Given the description of an element on the screen output the (x, y) to click on. 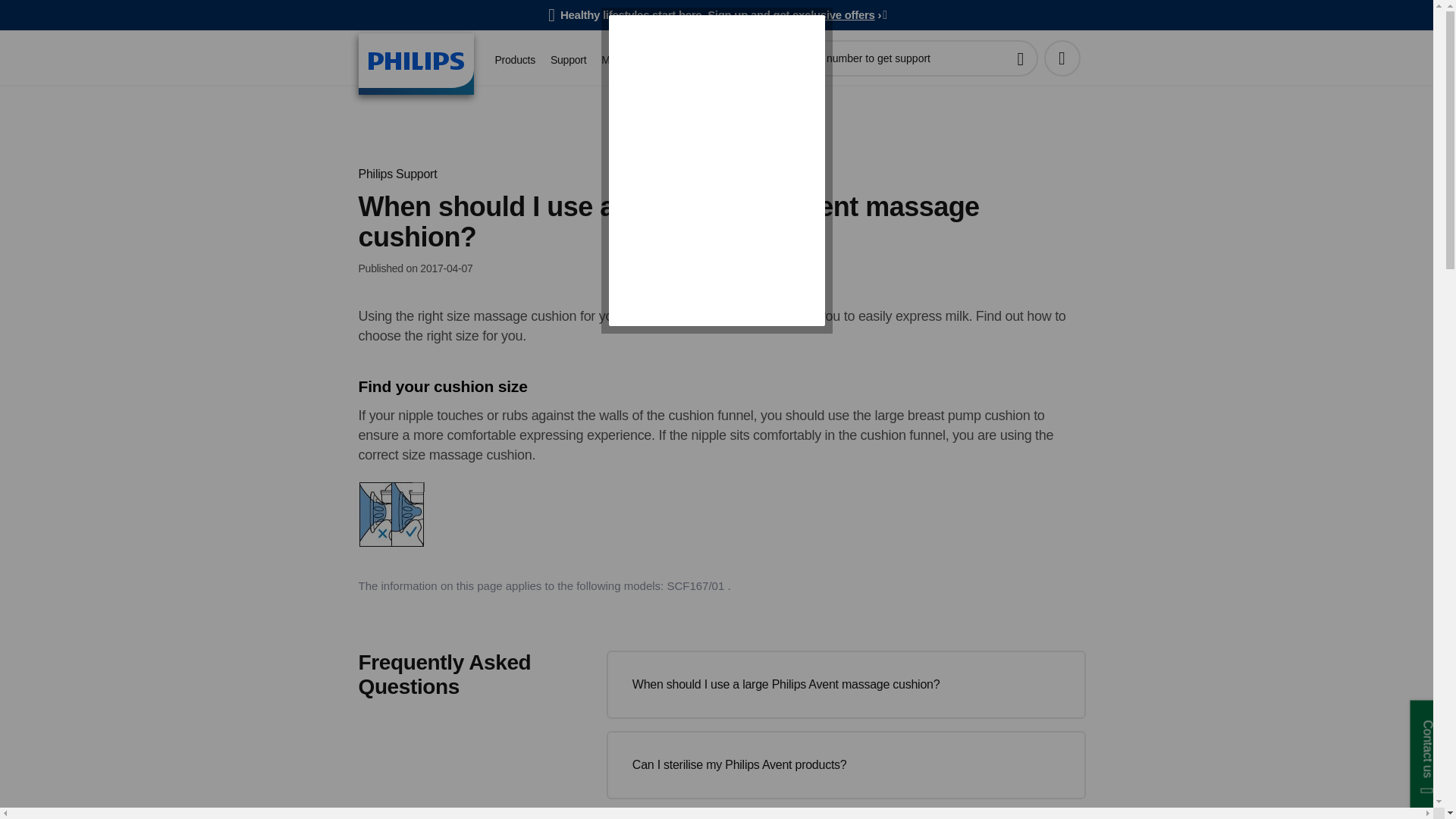
Home (415, 64)
Products (513, 59)
